Given the description of an element on the screen output the (x, y) to click on. 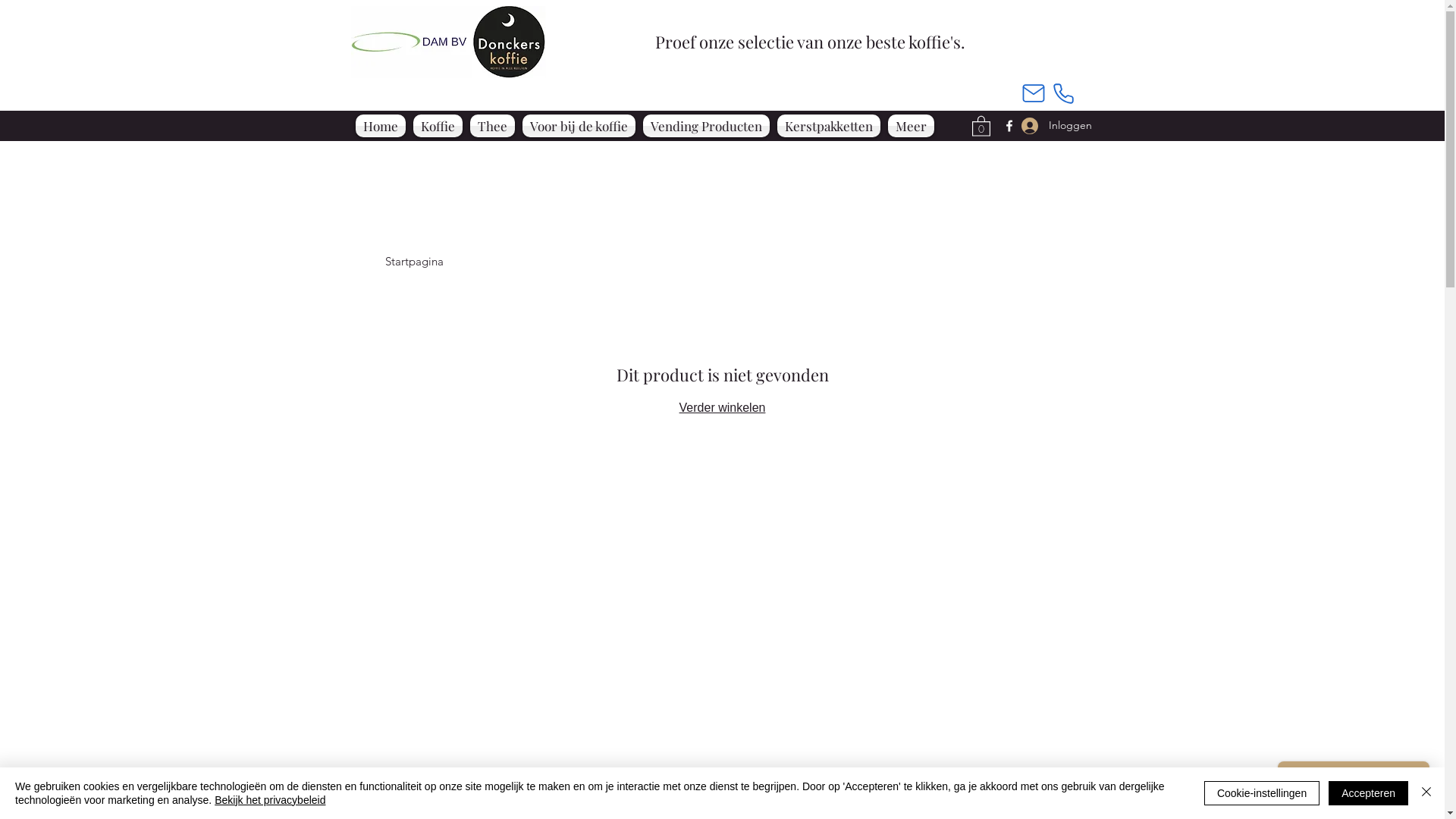
Verder winkelen Element type: text (722, 407)
Cookie-instellingen Element type: text (1261, 793)
Bekijk het privacybeleid Element type: text (269, 799)
Home Element type: text (380, 125)
Inloggen Element type: text (1044, 125)
Kerstpakketten Element type: text (828, 125)
Koffie Element type: text (437, 125)
0 Element type: text (981, 125)
Accepteren Element type: text (1368, 793)
Startpagina Element type: text (414, 261)
Thee Element type: text (492, 125)
Voor bij de koffie Element type: text (578, 125)
LOGO WEBWINKEL NIEUW_edited.jpg Element type: hover (447, 42)
Vending Producten Element type: text (706, 125)
